Given the description of an element on the screen output the (x, y) to click on. 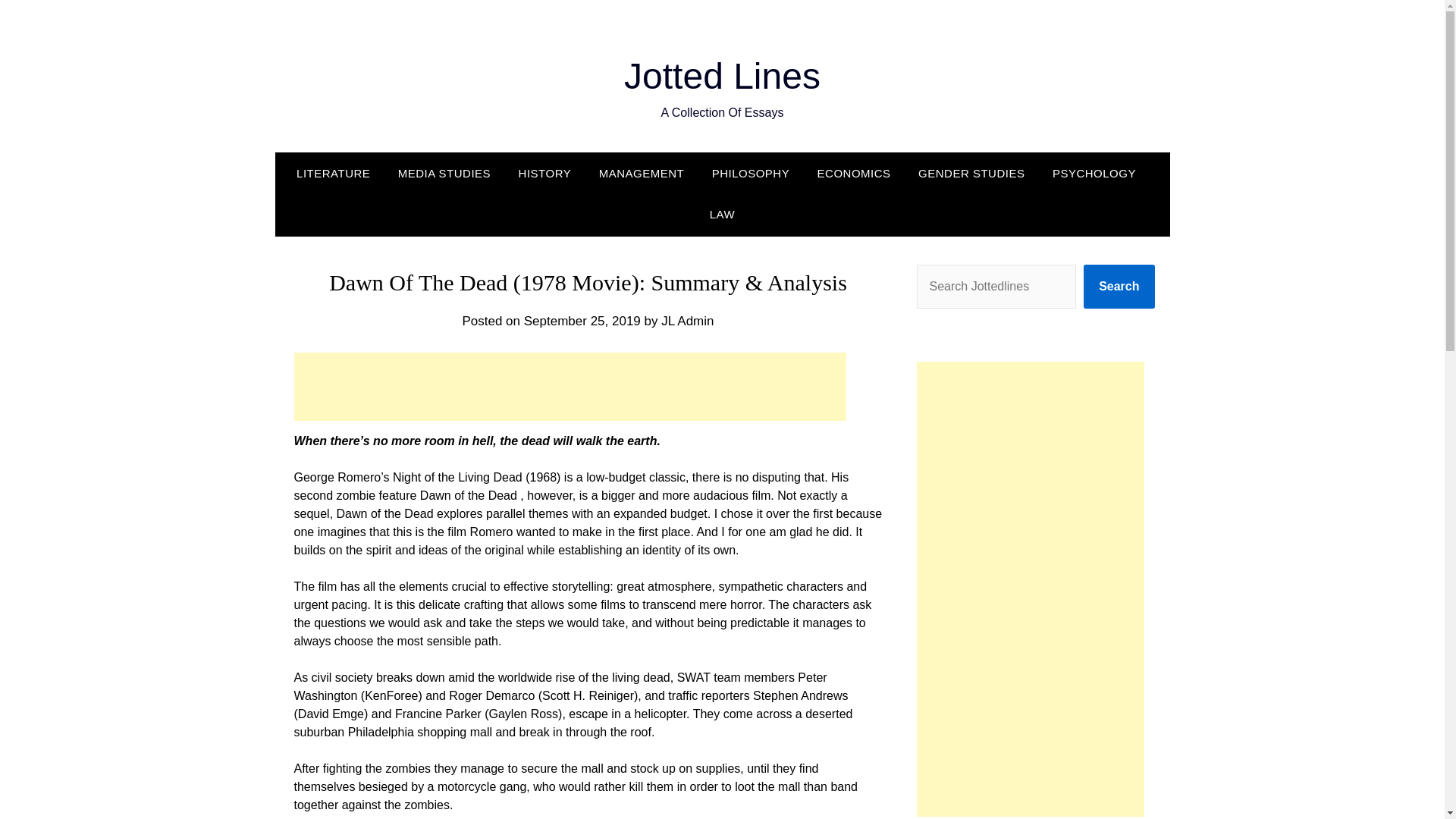
ECONOMICS (853, 173)
JL Admin (687, 320)
PSYCHOLOGY (1094, 173)
September 25, 2019 (582, 320)
MANAGEMENT (641, 173)
GENDER STUDIES (970, 173)
PHILOSOPHY (751, 173)
MEDIA STUDIES (443, 173)
LITERATURE (339, 173)
Jotted Lines (722, 76)
LAW (721, 214)
Search (1118, 286)
Advertisement (569, 386)
HISTORY (544, 173)
